Given the description of an element on the screen output the (x, y) to click on. 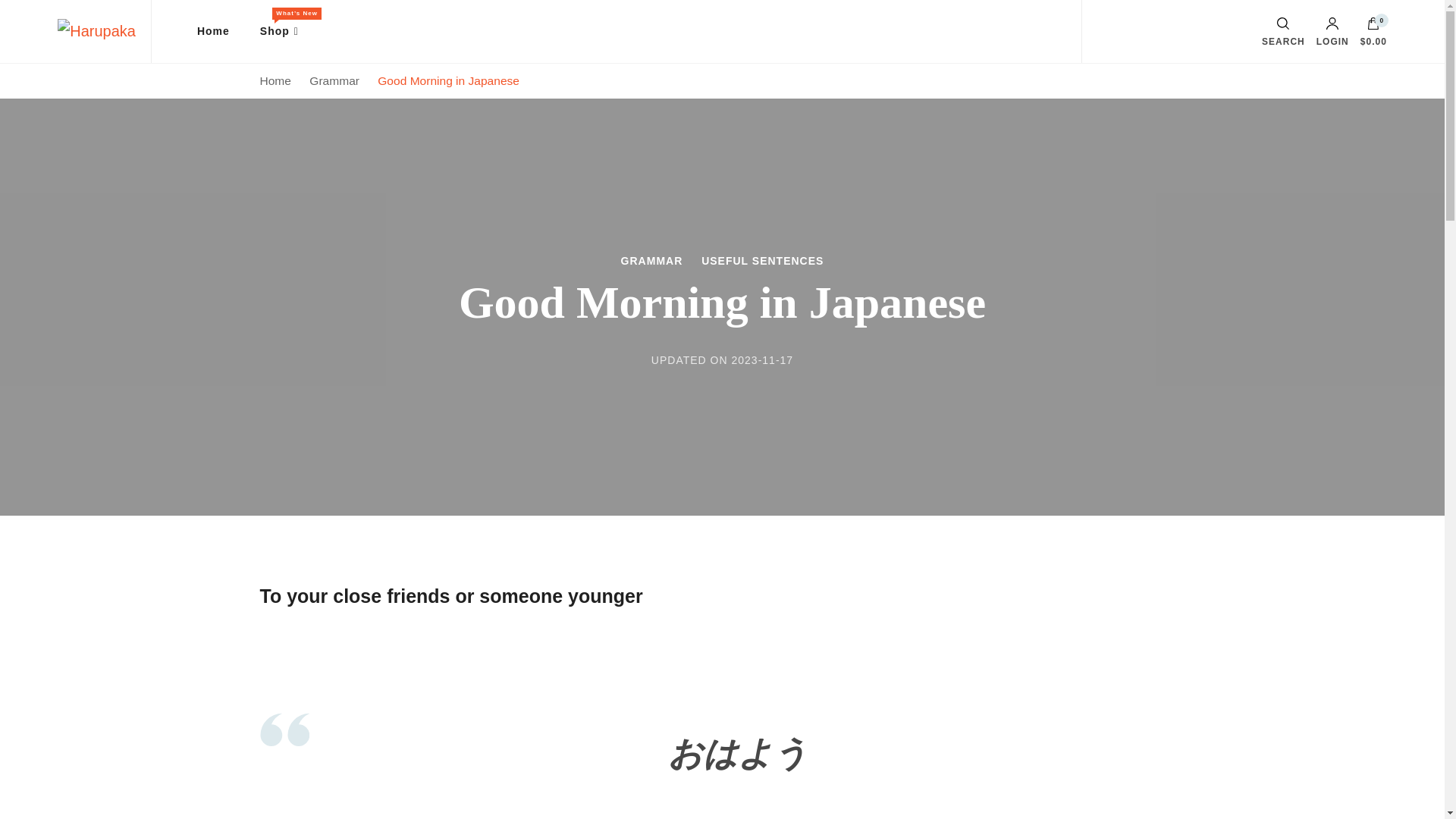
SEARCH (1283, 31)
Good Morning in Japanese (448, 80)
USEFUL SENTENCES (762, 260)
2023-11-17 (761, 359)
GRAMMAR (651, 260)
Home (274, 80)
Harupaka (90, 30)
Home (213, 31)
LOGIN (1332, 31)
Grammar (335, 80)
